Given the description of an element on the screen output the (x, y) to click on. 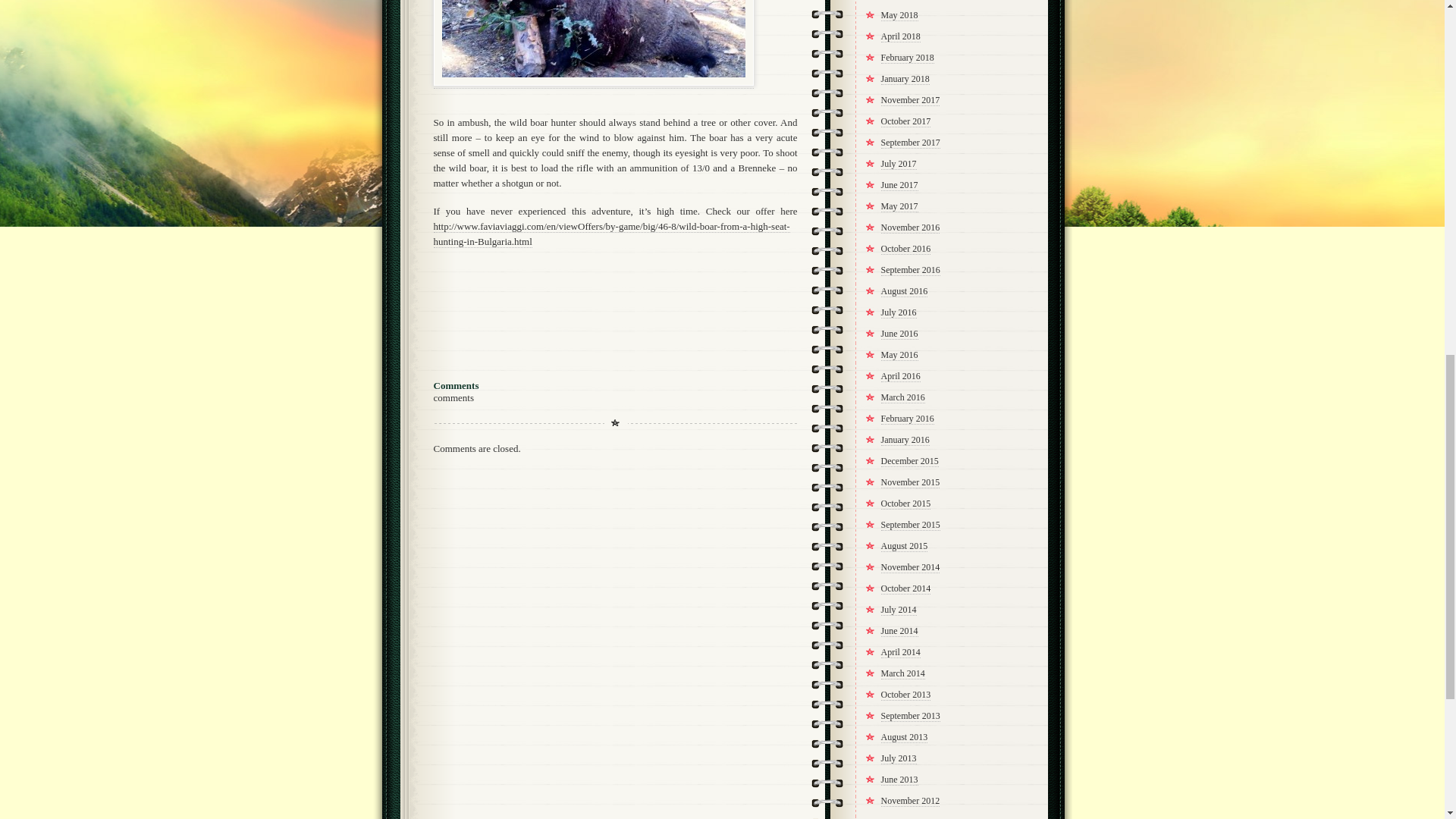
October 2017 (905, 121)
May 2018 (899, 15)
September 2017 (910, 142)
November 2016 (910, 227)
May 2017 (899, 206)
January 2018 (905, 79)
April 2018 (900, 36)
July 2017 (898, 163)
February 2018 (907, 57)
November 2017 (910, 100)
